Given the description of an element on the screen output the (x, y) to click on. 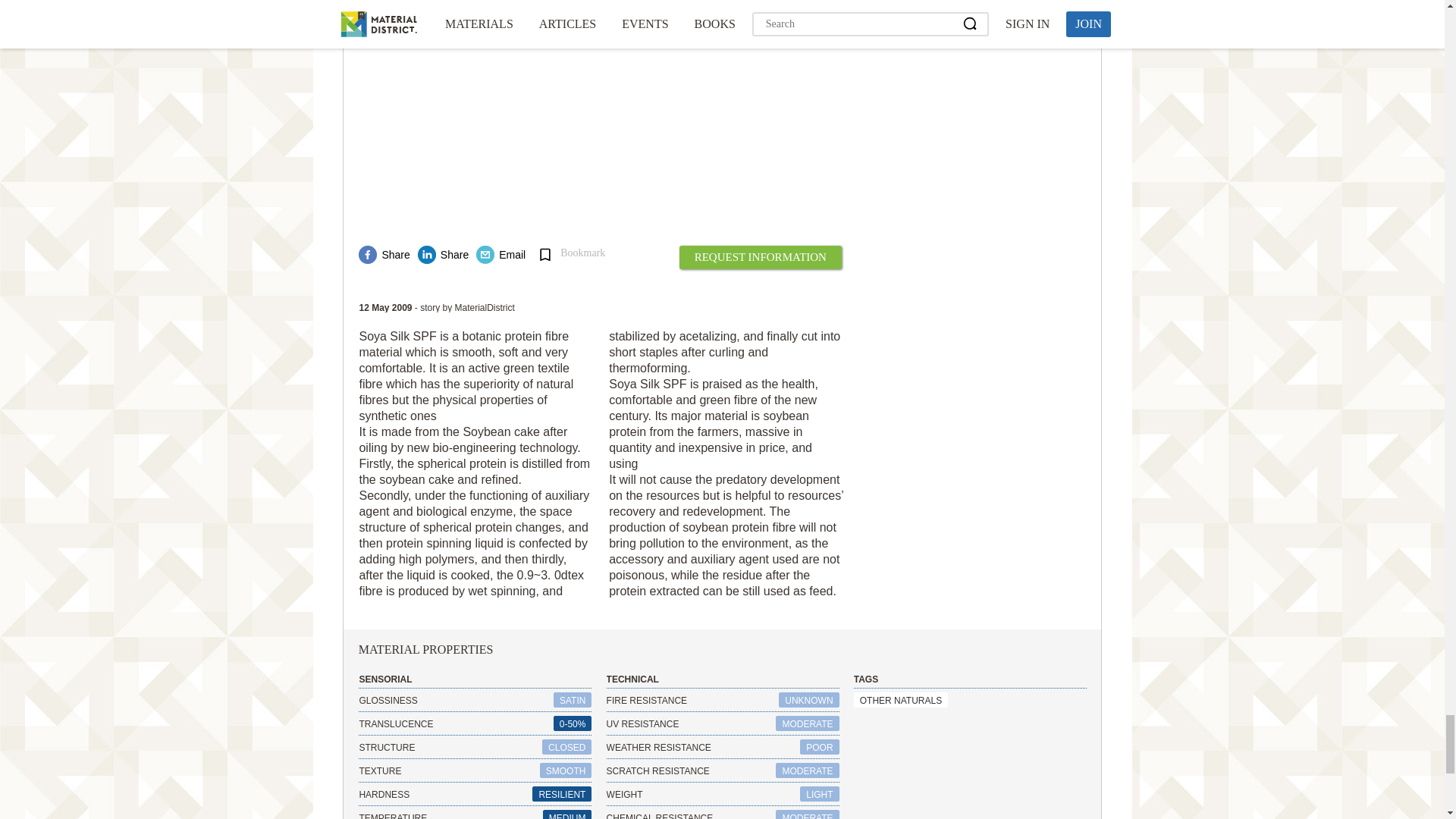
REQUEST INFORMATION (760, 257)
Bookmark (572, 254)
Share (442, 254)
Stuur deze pagina per email (500, 254)
Email (500, 254)
Share (383, 254)
